Given the description of an element on the screen output the (x, y) to click on. 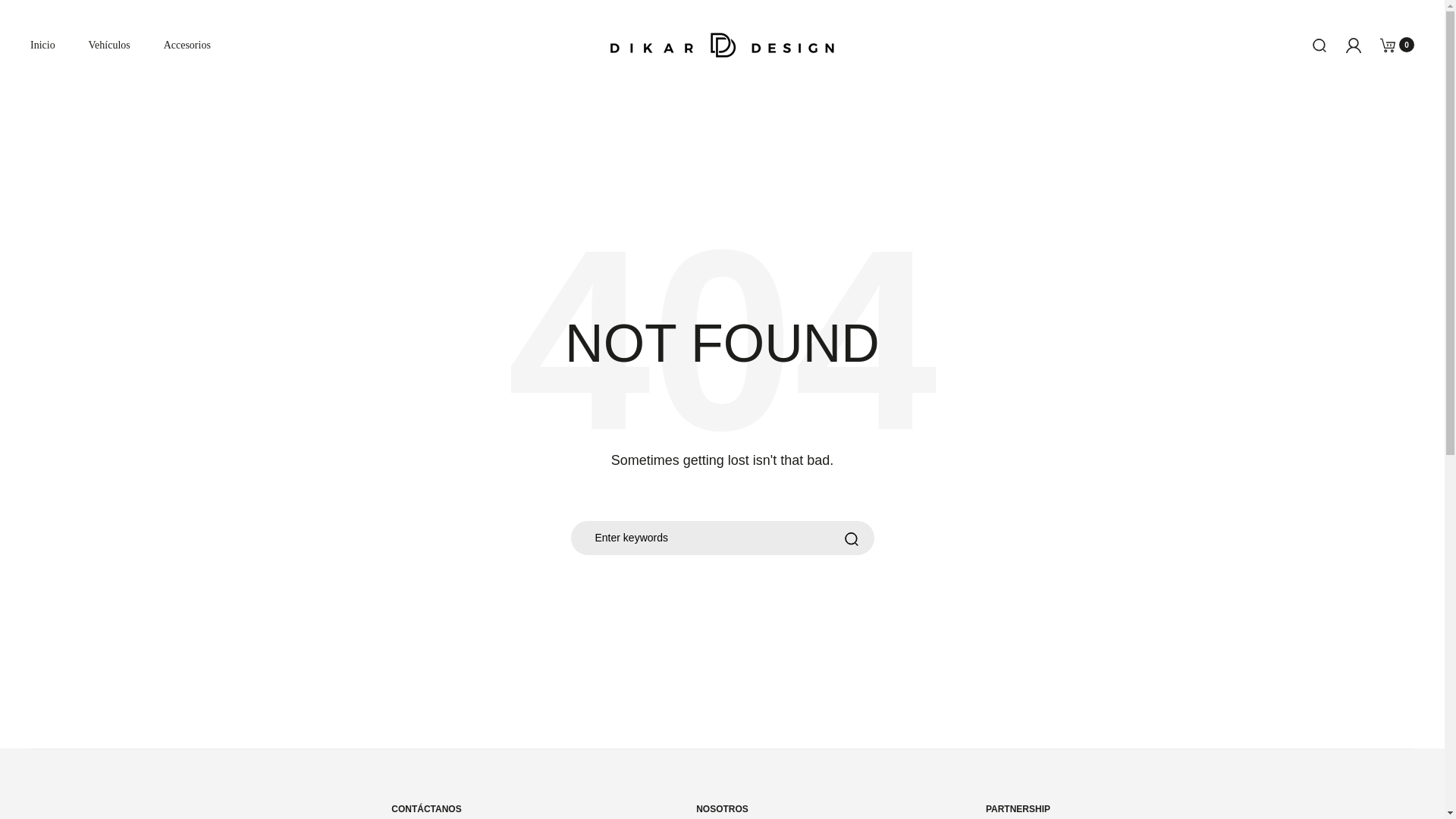
Inicio (42, 44)
Search (835, 539)
0 (1387, 44)
Accesorios (187, 44)
